Given the description of an element on the screen output the (x, y) to click on. 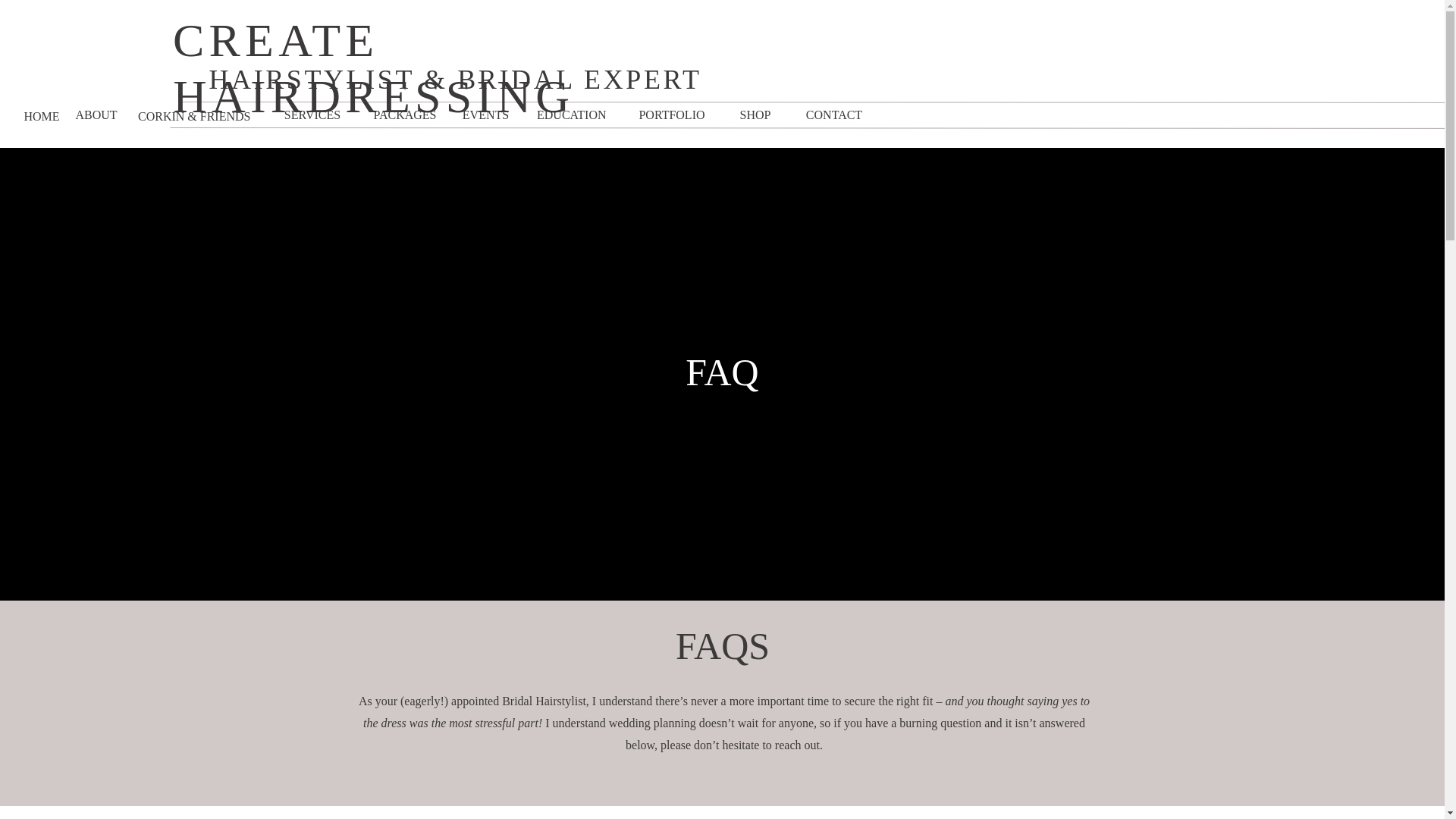
PACKAGES (404, 114)
CONTACT (834, 114)
PORTFOLIO (671, 114)
EDUCATION (580, 112)
HOME (41, 116)
ABOUT (96, 114)
SERVICES (311, 114)
SHOP (755, 114)
EVENTS (485, 114)
